Given the description of an element on the screen output the (x, y) to click on. 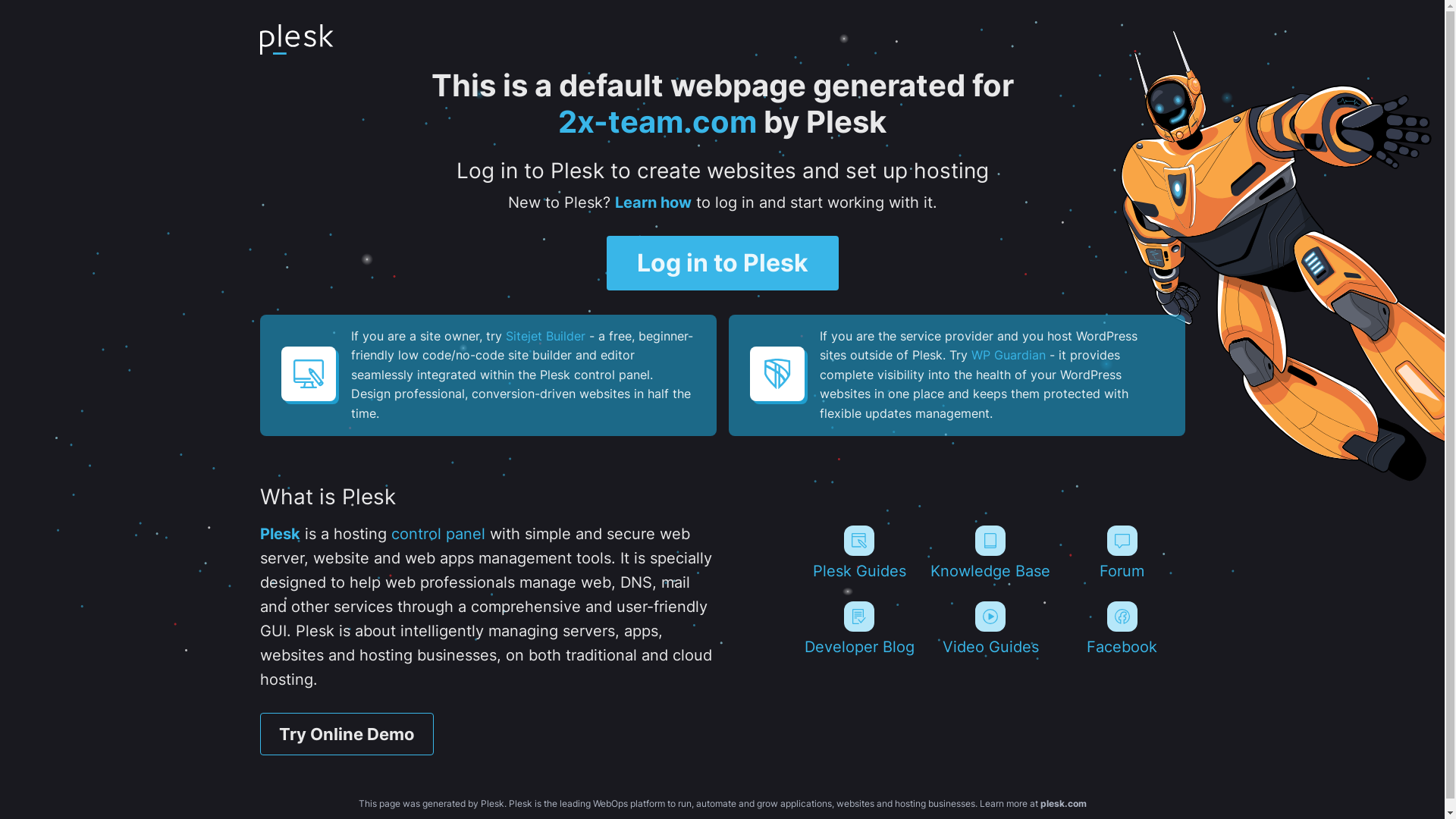
Video Guides Element type: text (990, 628)
Developer Blog Element type: text (858, 628)
Learn how Element type: text (652, 202)
control panel Element type: text (438, 533)
Facebook Element type: text (1121, 628)
plesk.com Element type: text (1063, 803)
Knowledge Base Element type: text (990, 552)
Plesk Guides Element type: text (858, 552)
Forum Element type: text (1121, 552)
2x-team.com Element type: text (657, 121)
Plesk Element type: text (279, 533)
WP Guardian Element type: text (1007, 354)
Sitejet Builder Element type: text (544, 335)
Log in to Plesk Element type: text (722, 262)
Try Online Demo Element type: text (346, 733)
